Given the description of an element on the screen output the (x, y) to click on. 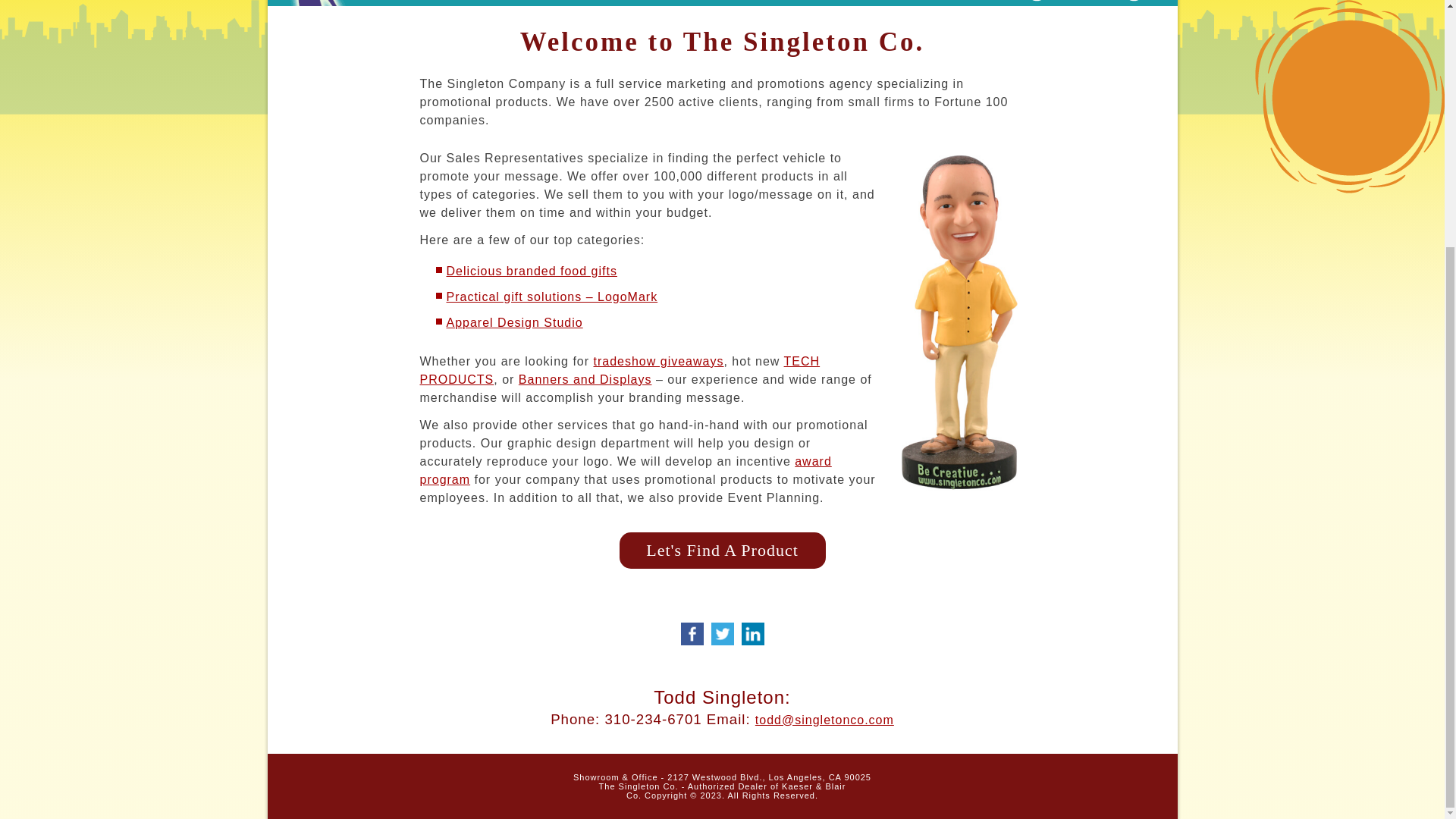
Apparel Design Studio (513, 322)
Be Creative! Todd Singleton (959, 322)
Delicious branded food gifts (530, 270)
Banners and Displays (585, 379)
Let's Find A Product (721, 550)
tradeshow giveaways (657, 360)
Twitter (721, 634)
LinkedIn (751, 634)
Facebook (691, 634)
TECH PRODUCTS (620, 369)
award program (625, 470)
